Given the description of an element on the screen output the (x, y) to click on. 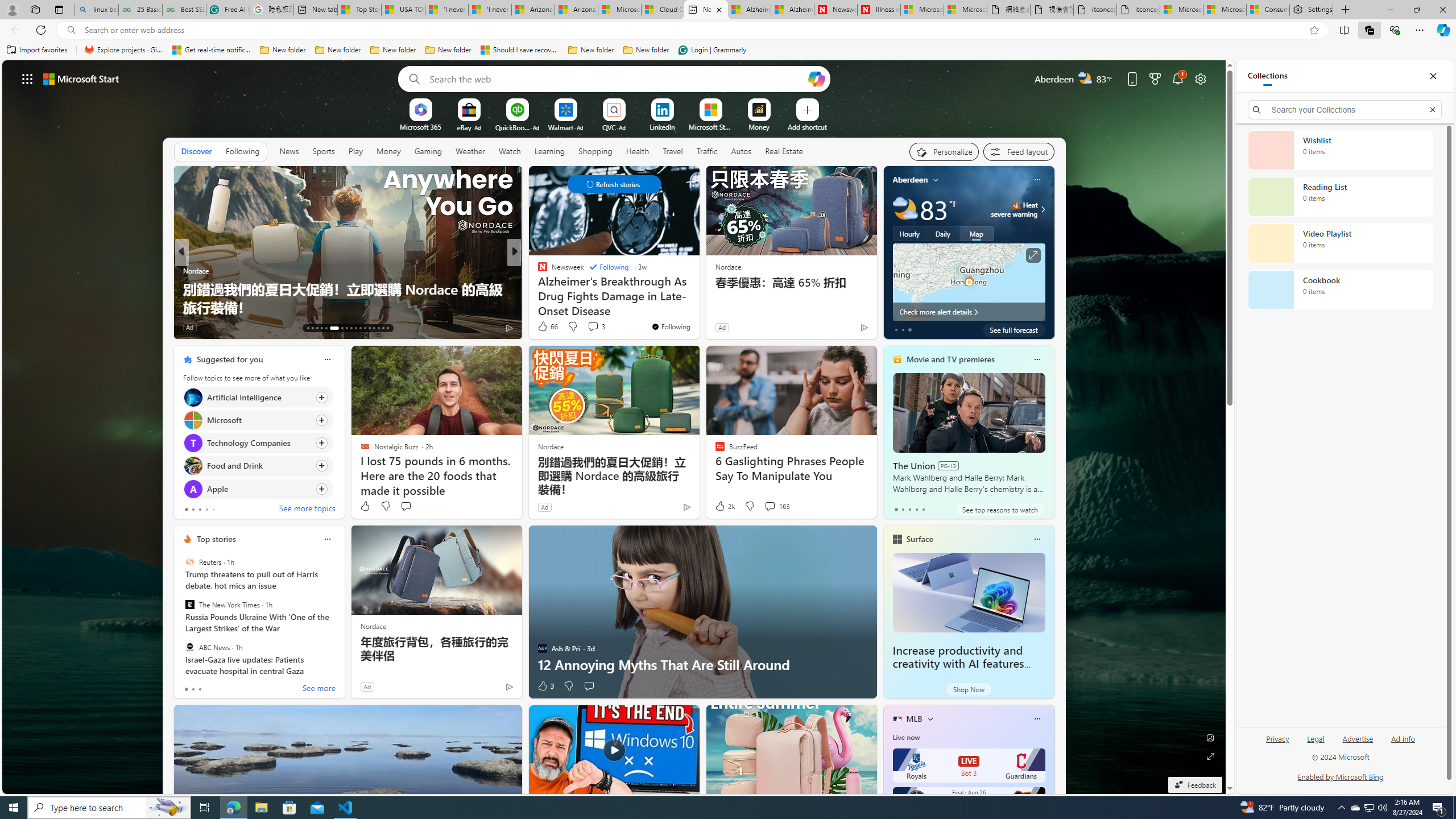
Video Playlist collection, 0 items (1339, 243)
328 Like (545, 327)
AutomationID: tab-20 (346, 328)
View comments 3 Comment (596, 326)
Suggested for you (229, 359)
Aberdeen (910, 179)
View comments 115 Comment (592, 327)
